Given the description of an element on the screen output the (x, y) to click on. 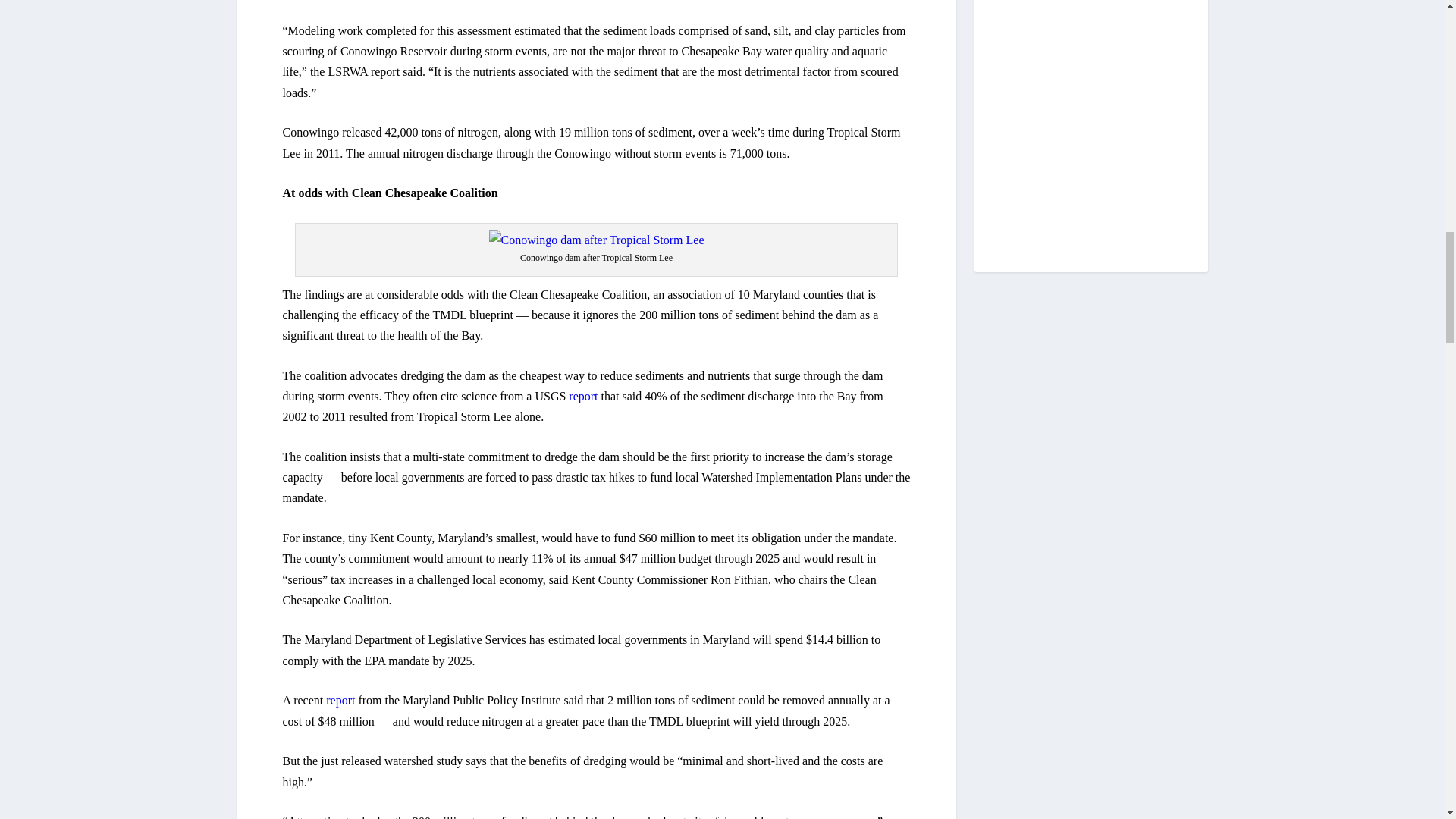
report (581, 395)
report (339, 699)
